Given the description of an element on the screen output the (x, y) to click on. 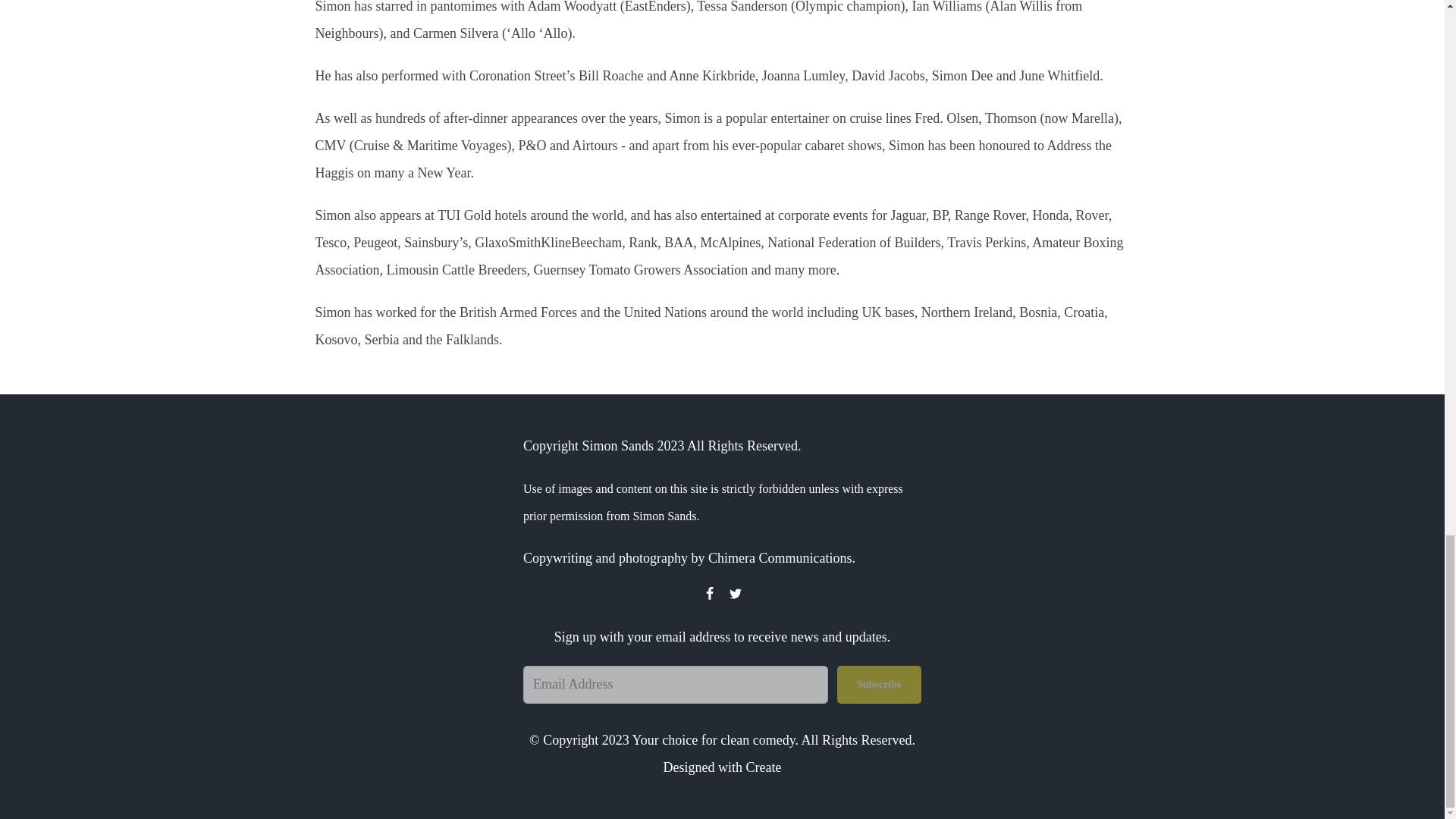
twitter (734, 595)
facebook (708, 595)
Create (763, 767)
Subscribe (879, 684)
